Given the description of an element on the screen output the (x, y) to click on. 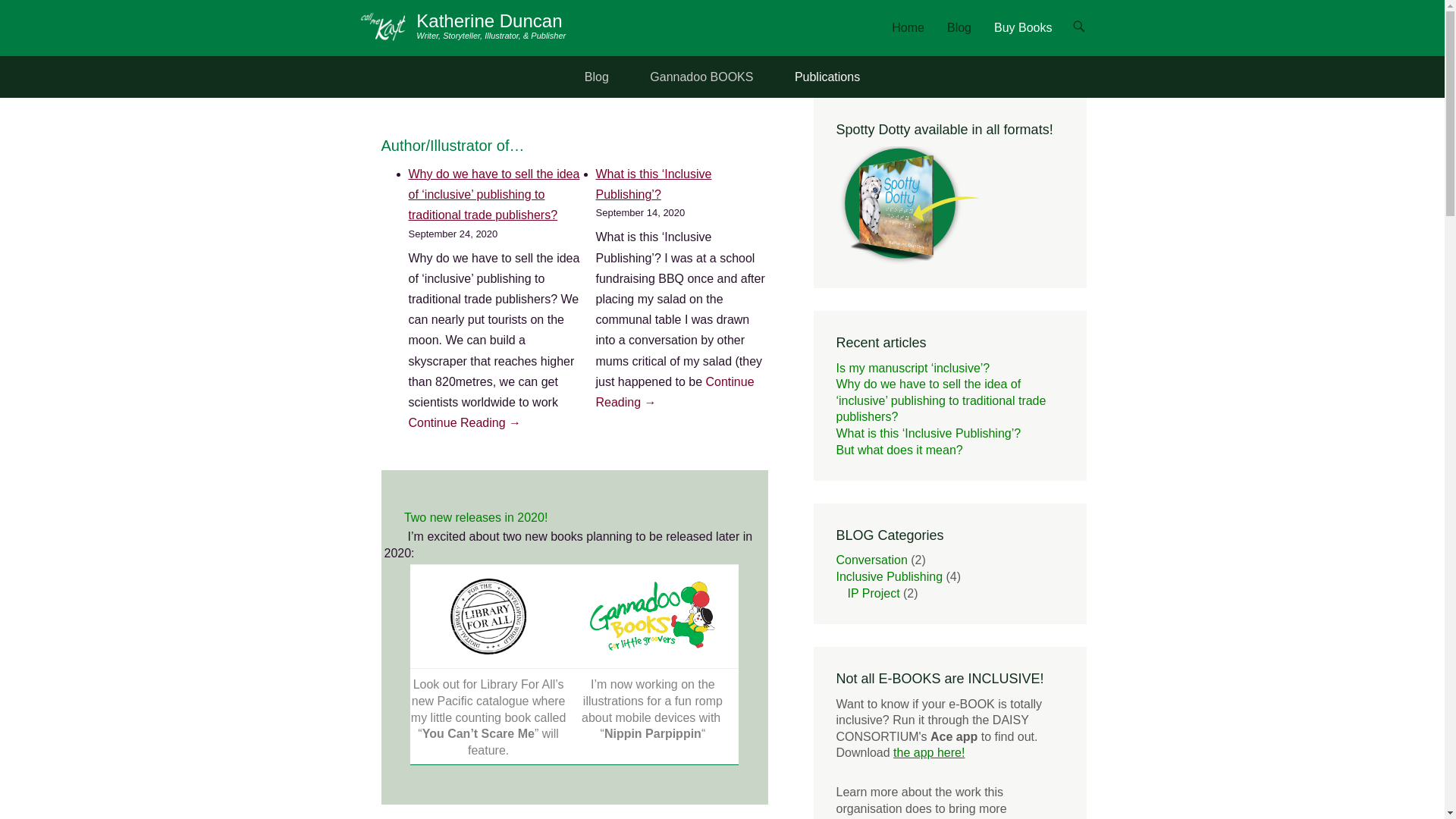
Skip to content Element type: text (924, 26)
the app here! Element type: text (928, 752)
IP Project Element type: text (873, 592)
Gannadoo BOOKS Element type: text (700, 76)
Blog Element type: text (596, 76)
Katherine Duncan Element type: text (488, 20)
Blog Element type: text (959, 36)
Buy Books Element type: text (1022, 36)
Publications Element type: text (826, 76)
But what does it mean? Element type: text (898, 449)
Inclusive Publishing Element type: text (888, 576)
Home Element type: text (907, 36)
Conversation Element type: text (870, 559)
